Given the description of an element on the screen output the (x, y) to click on. 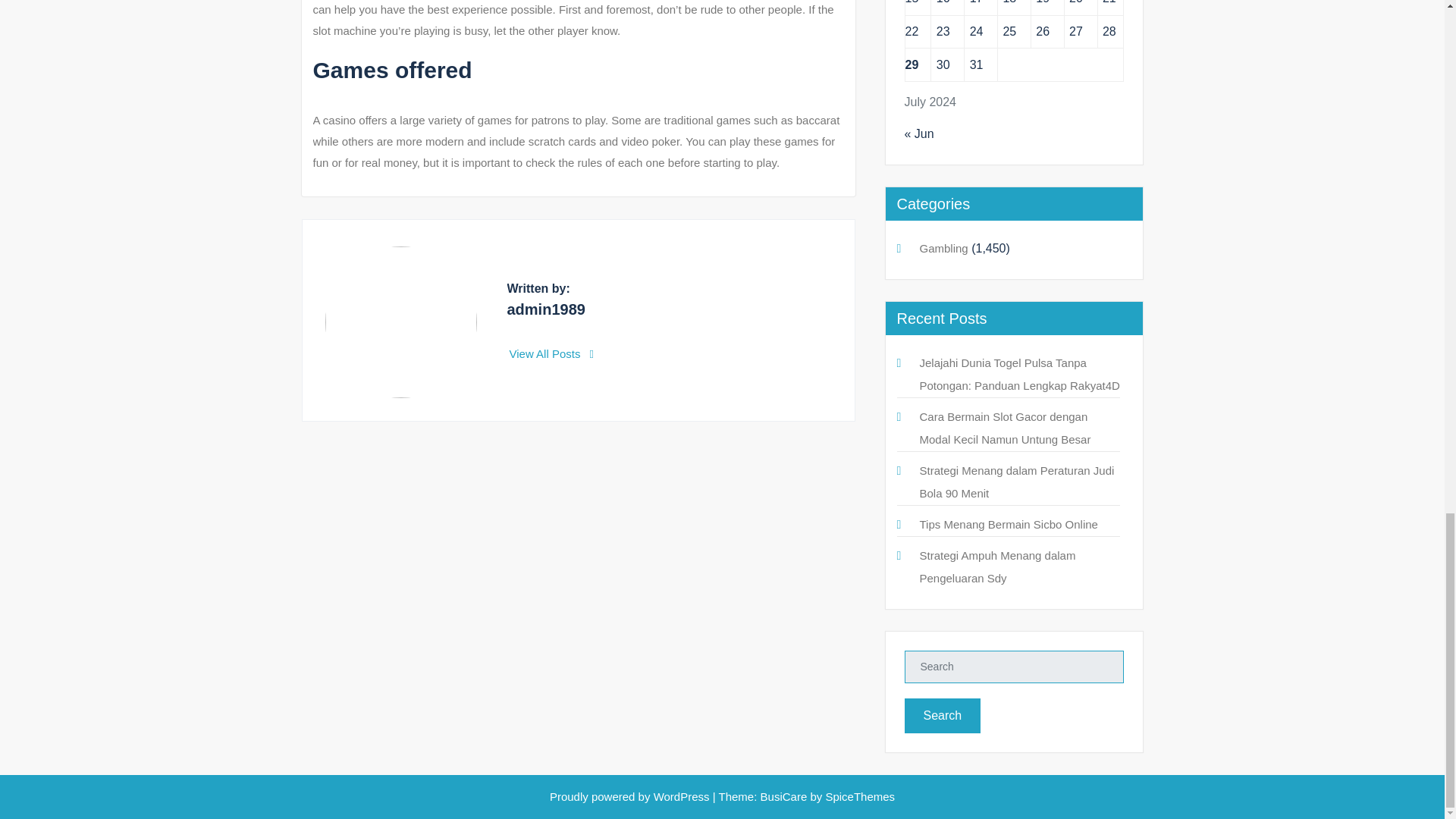
View All Posts (551, 353)
